Given the description of an element on the screen output the (x, y) to click on. 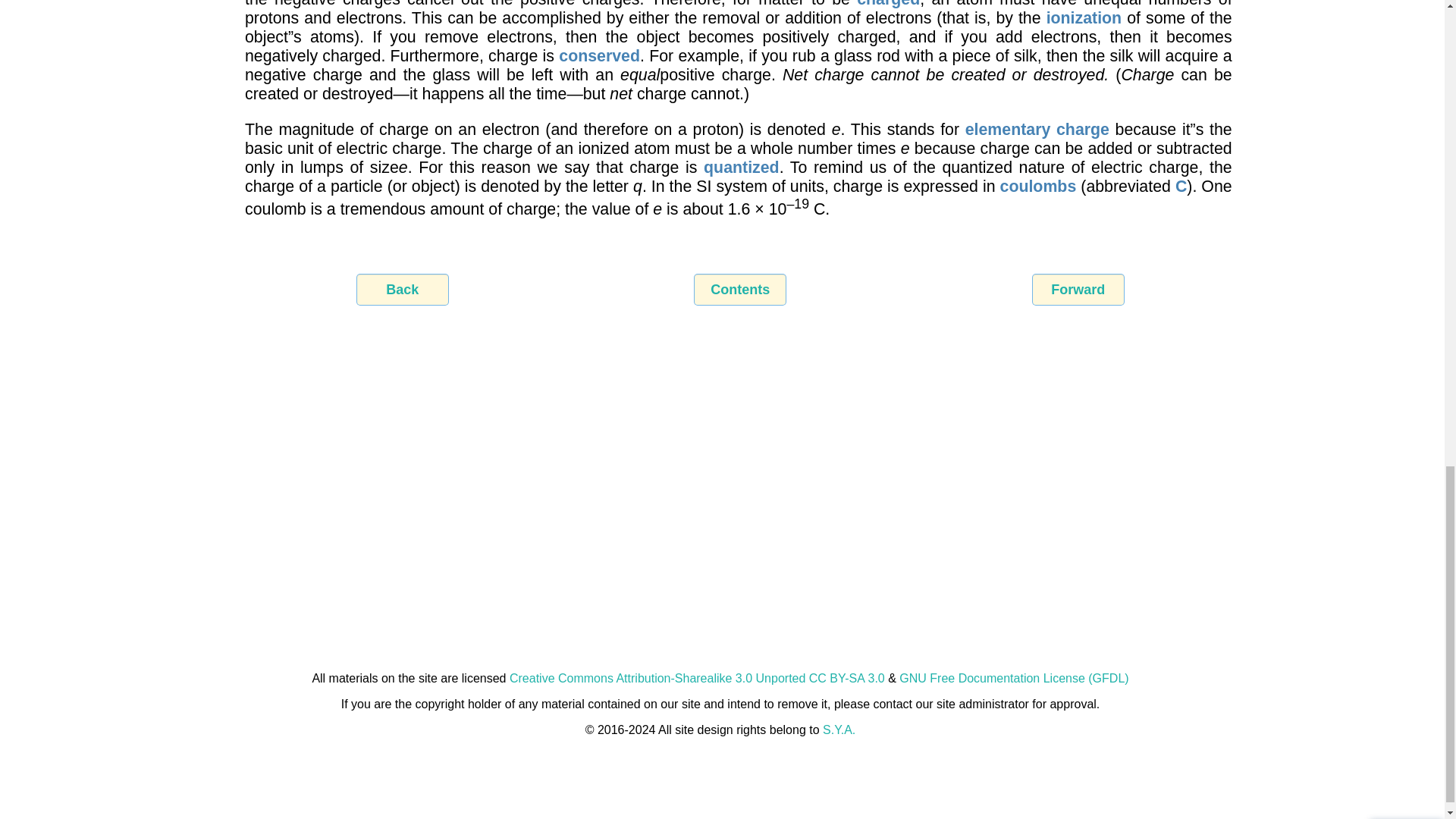
S.Y.A. (839, 729)
Back (402, 289)
Forward (1078, 289)
Contents (740, 289)
